Given the description of an element on the screen output the (x, y) to click on. 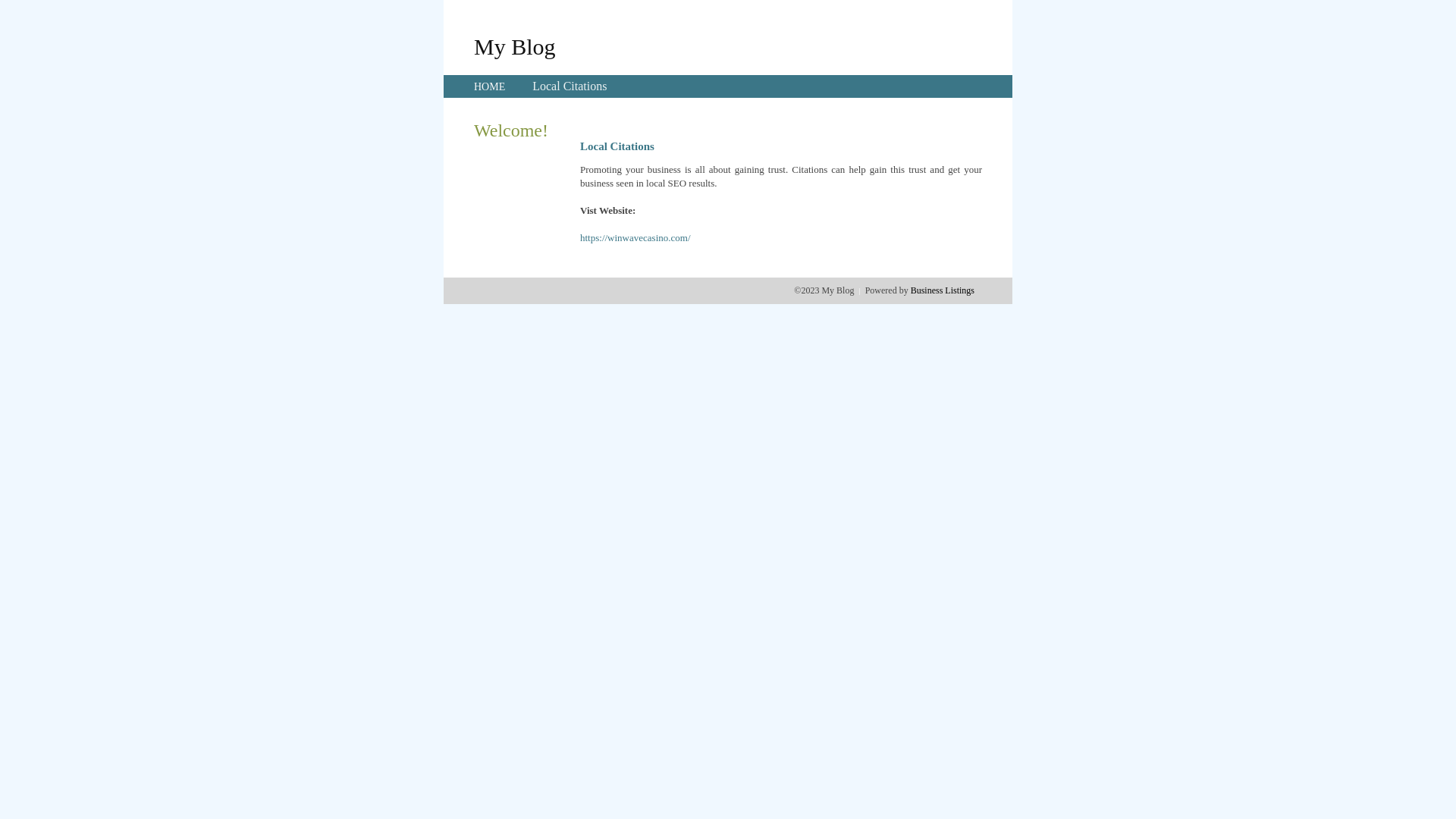
Local Citations Element type: text (569, 85)
HOME Element type: text (489, 86)
https://winwavecasino.com/ Element type: text (635, 237)
Business Listings Element type: text (942, 290)
My Blog Element type: text (514, 46)
